Given the description of an element on the screen output the (x, y) to click on. 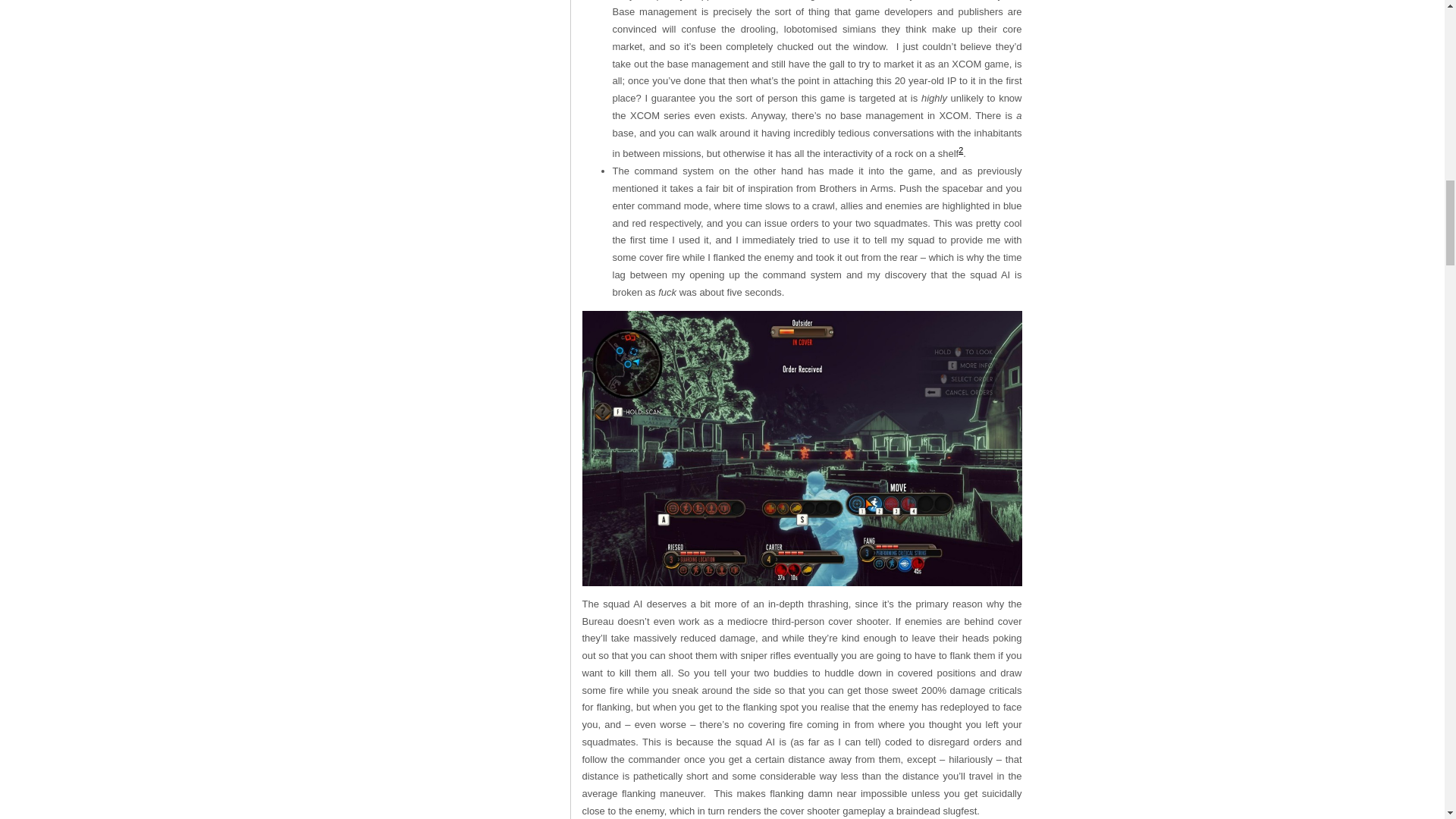
Such tactical genius. (802, 448)
